Given the description of an element on the screen output the (x, y) to click on. 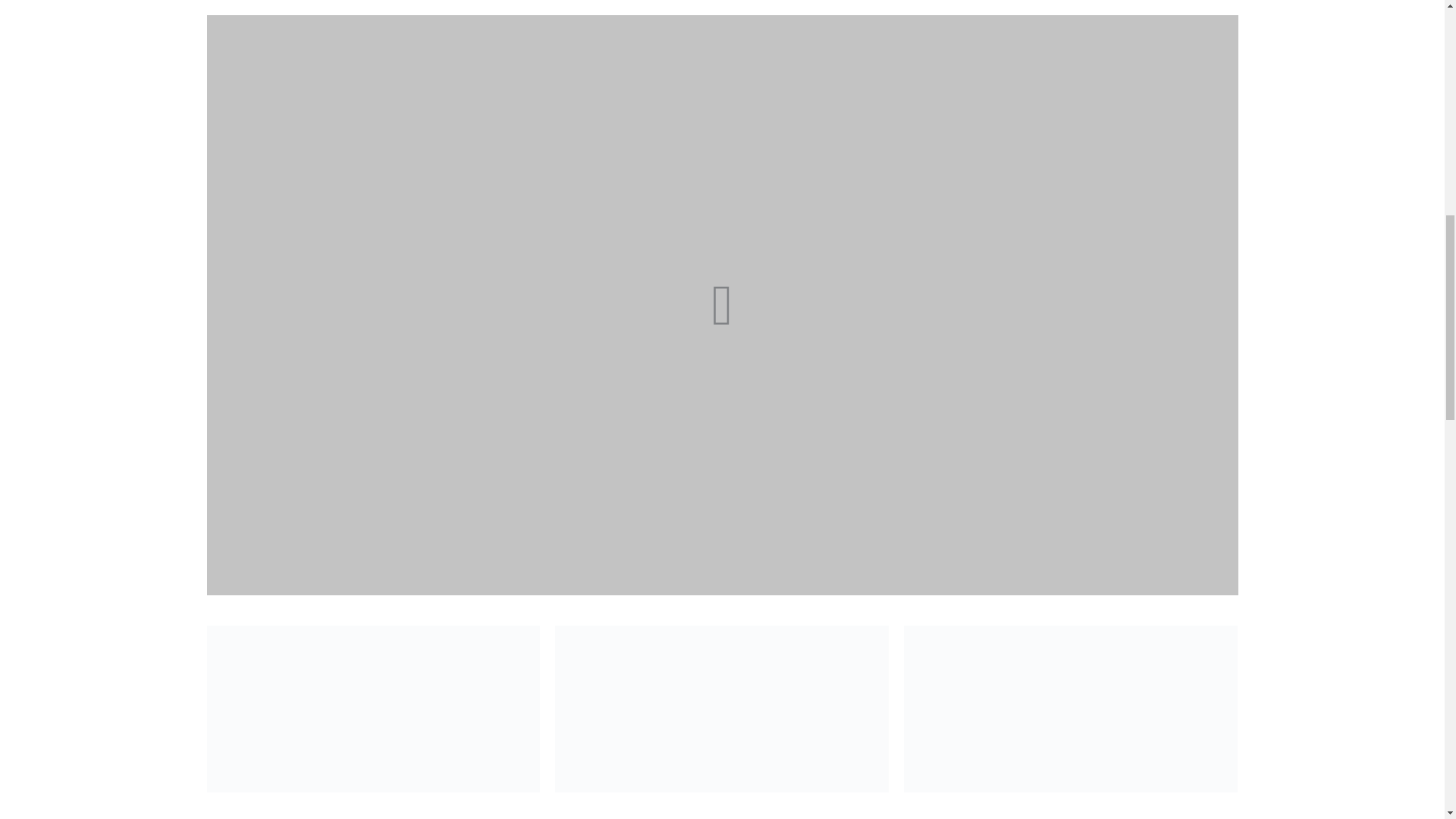
PRP (721, 708)
PRP (1070, 708)
PRP (373, 708)
